Given the description of an element on the screen output the (x, y) to click on. 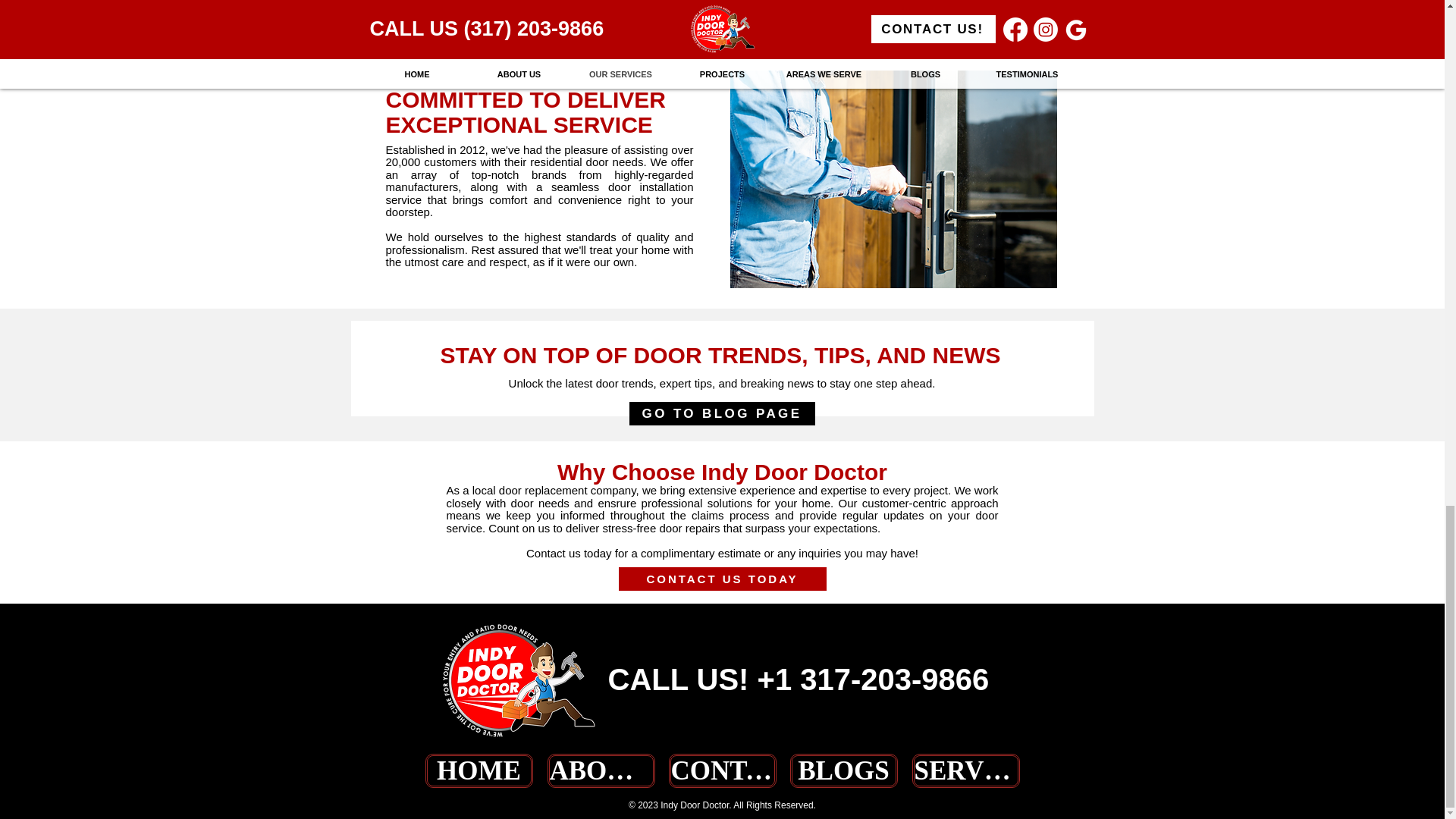
SERVICES (965, 770)
ABOUT US (601, 770)
BLOGS (844, 770)
CONTACT US TODAY (722, 578)
GO TO BLOG PAGE (721, 413)
CONTACT US (722, 770)
HOME (478, 770)
